Given the description of an element on the screen output the (x, y) to click on. 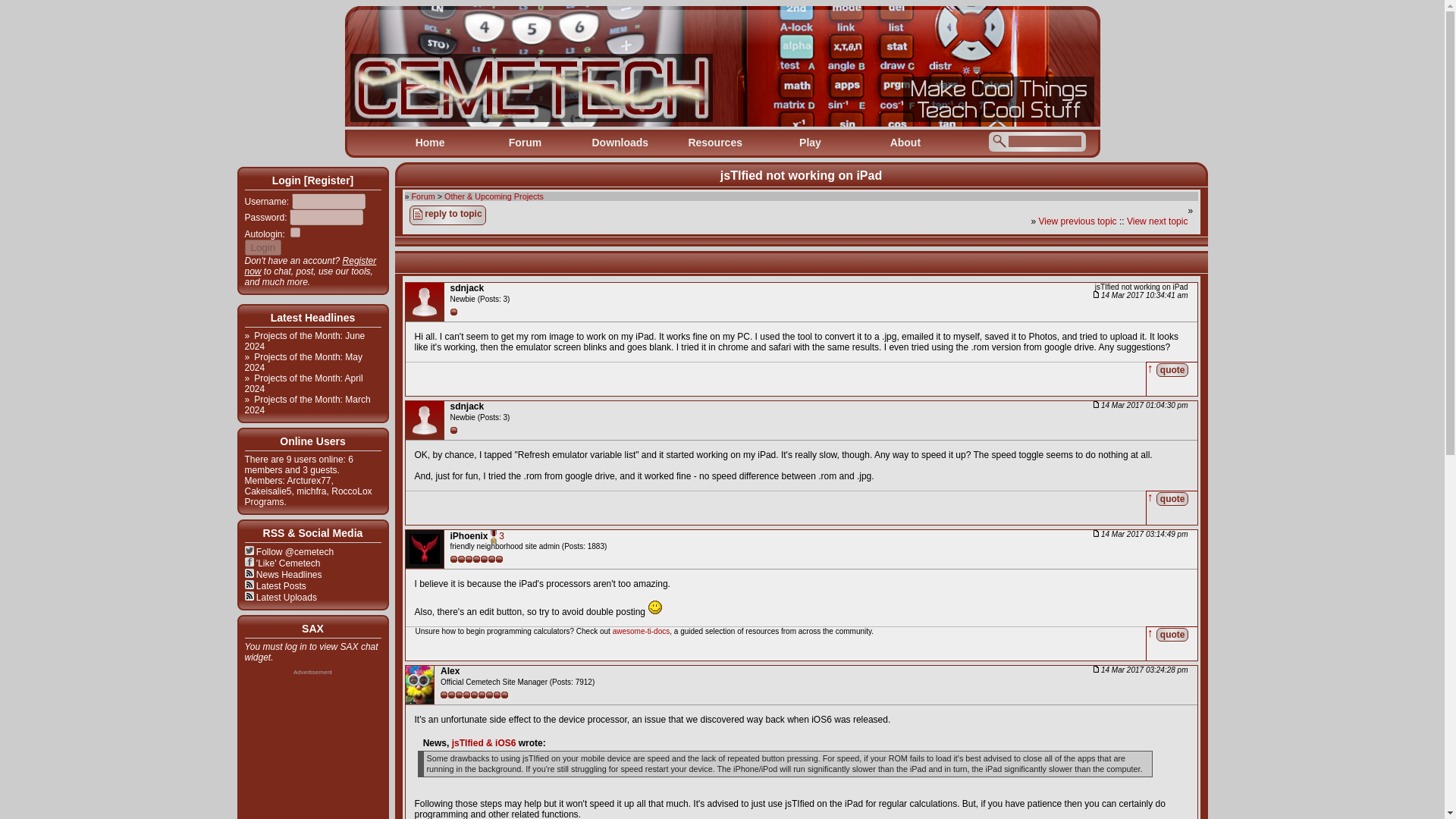
quote (1172, 498)
Forum (524, 142)
Login (262, 247)
14 Mar 2017 03:24:28 pm (1140, 669)
awesome-ti-docs (640, 631)
View previous topic (1077, 221)
iPhoenix (468, 535)
About (905, 142)
on (294, 232)
Downloads (620, 142)
Register now (309, 265)
sdnjack (466, 406)
Login (262, 247)
14 Mar 2017 10:34:41 am (1140, 295)
jsTIfied not working on iPad (801, 174)
